Given the description of an element on the screen output the (x, y) to click on. 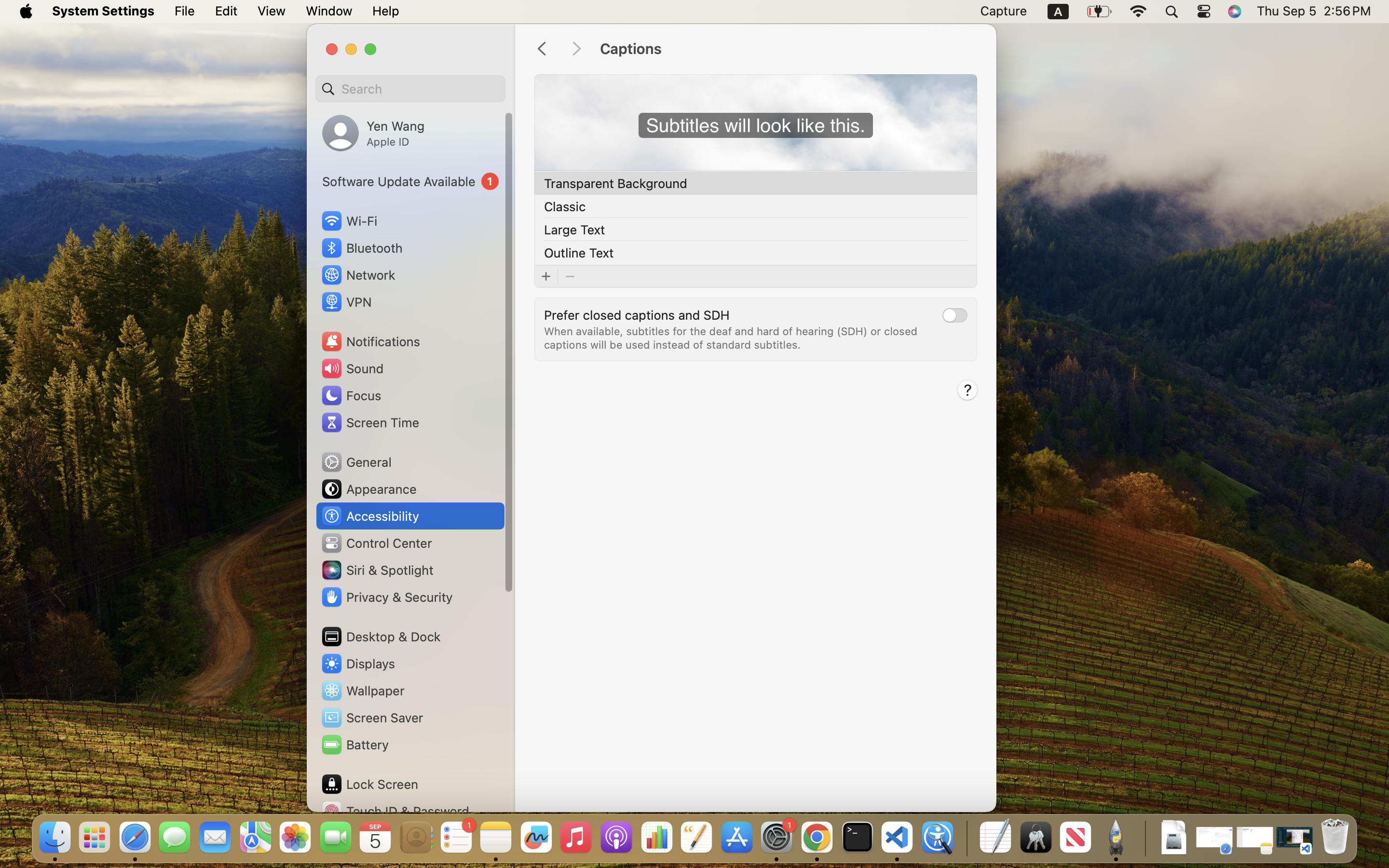
Accessibility Element type: AXStaticText (369, 515)
Notifications Element type: AXStaticText (370, 340)
Privacy & Security Element type: AXStaticText (386, 596)
Control Center Element type: AXStaticText (376, 542)
Desktop & Dock Element type: AXStaticText (380, 636)
